Given the description of an element on the screen output the (x, y) to click on. 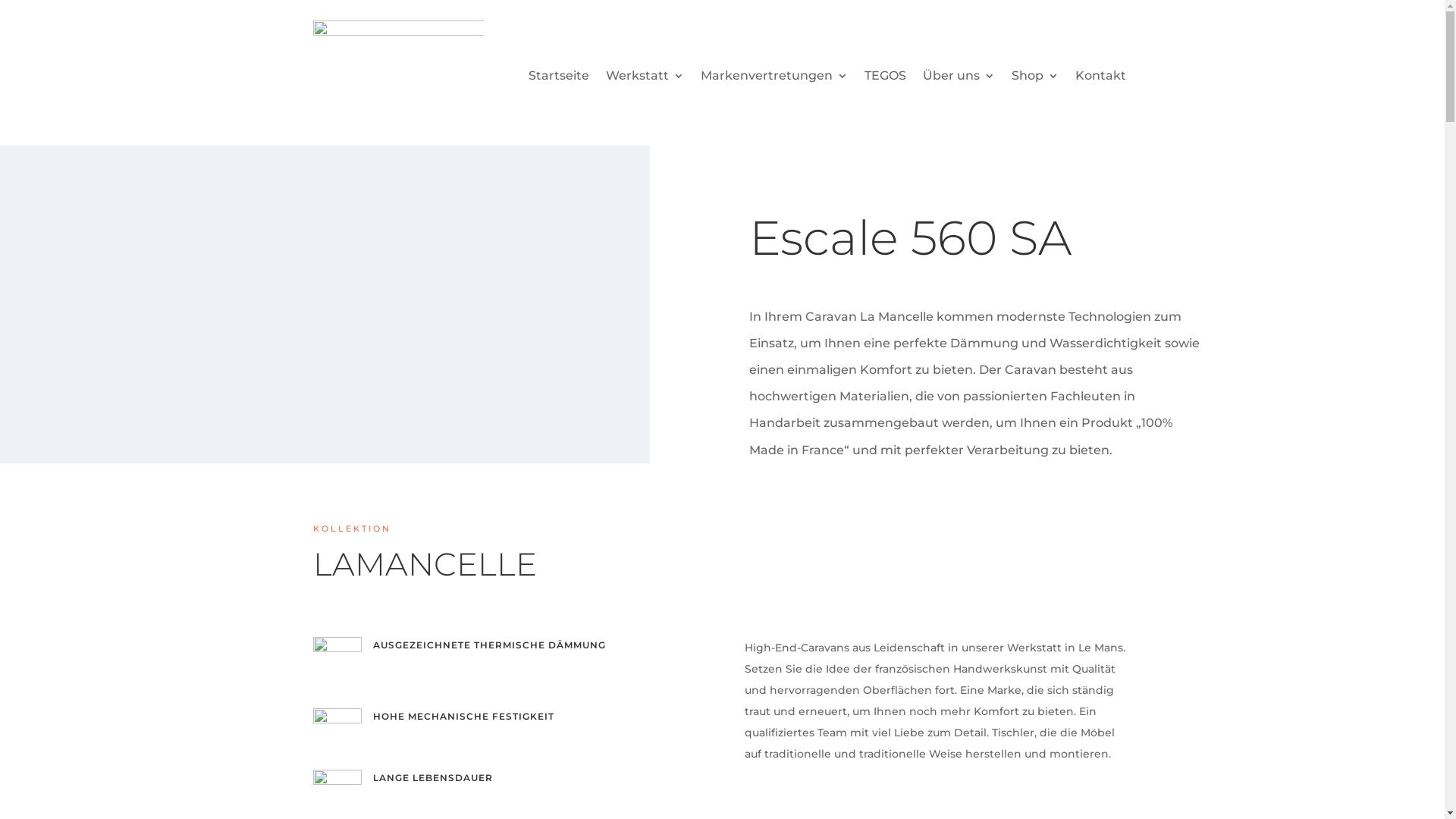
Logo1 Element type: hover (397, 68)
TEGOS Element type: text (885, 78)
Kontakt Element type: text (1100, 78)
Startseite Element type: text (558, 78)
Shop Element type: text (1034, 78)
Markenvertretungen Element type: text (773, 78)
Werkstatt Element type: text (644, 78)
